Given the description of an element on the screen output the (x, y) to click on. 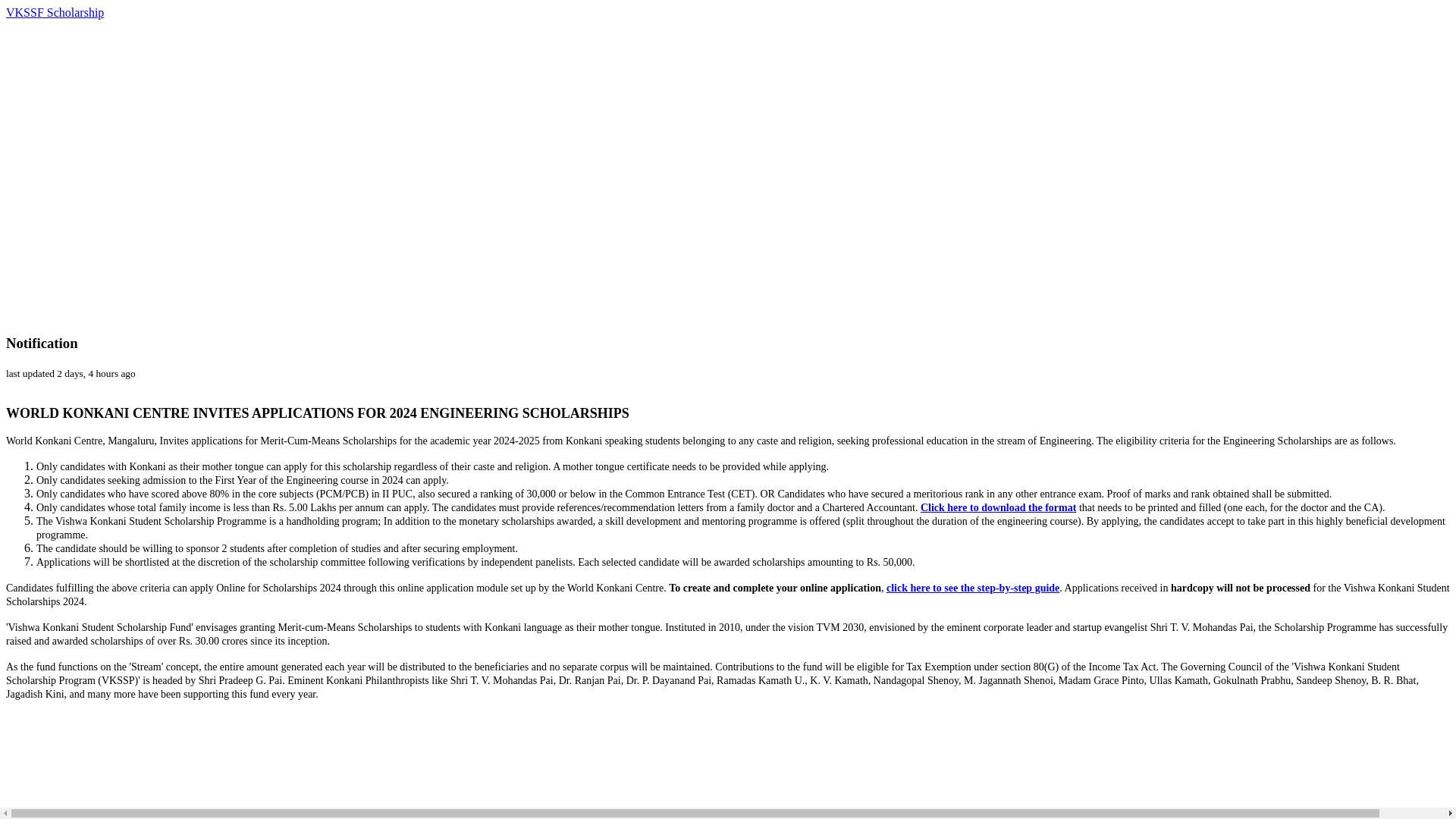
Click here to download the format (997, 507)
click here to see the step-by-step guide (972, 587)
VKSSF Scholarship (54, 11)
